Given the description of an element on the screen output the (x, y) to click on. 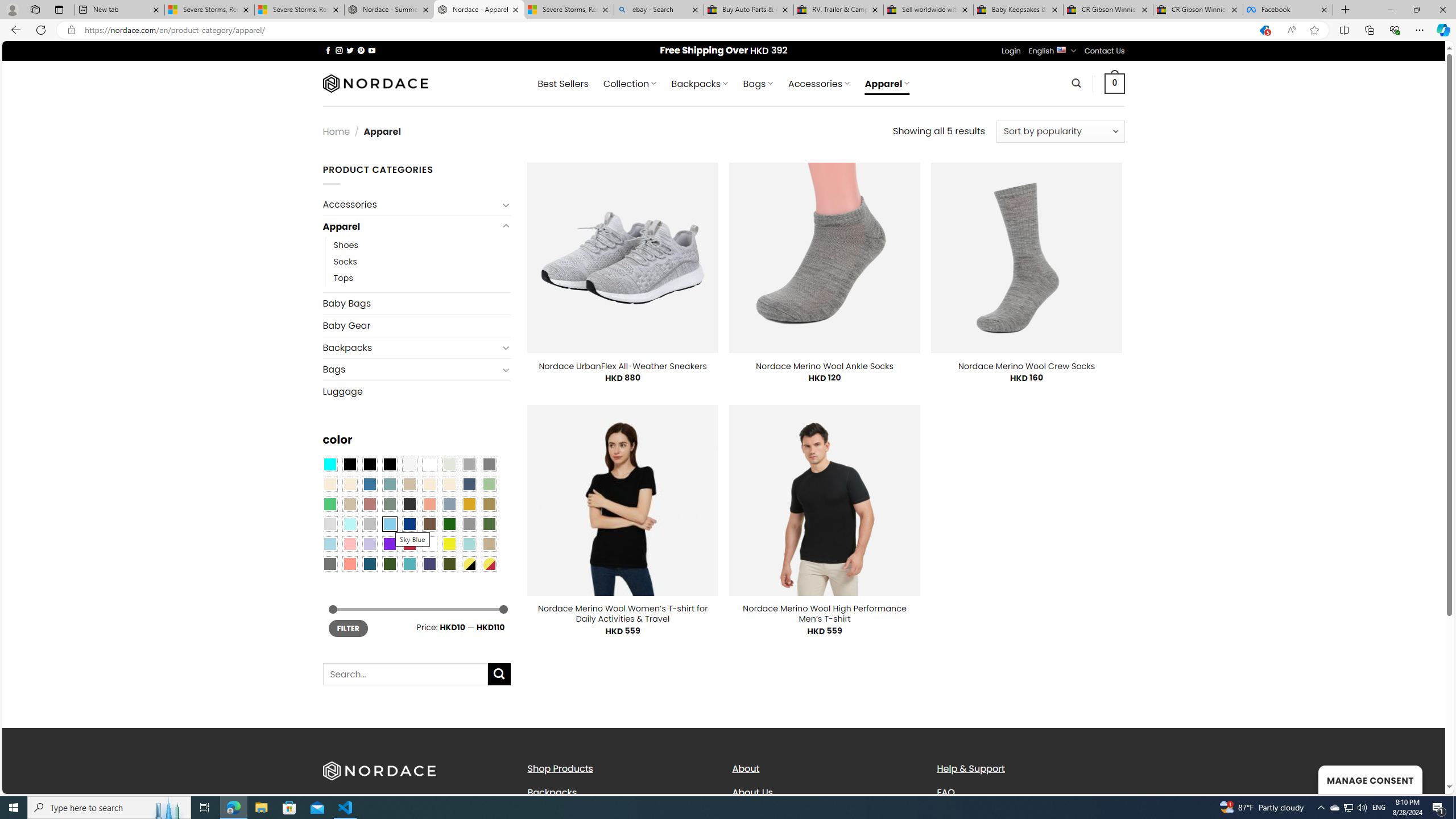
Sky Blue (389, 523)
Socks (422, 262)
Accessories (410, 204)
Clear (429, 464)
Search for: (404, 674)
Shoes (345, 245)
Gold (468, 503)
Red (408, 543)
Rose (369, 503)
